Given the description of an element on the screen output the (x, y) to click on. 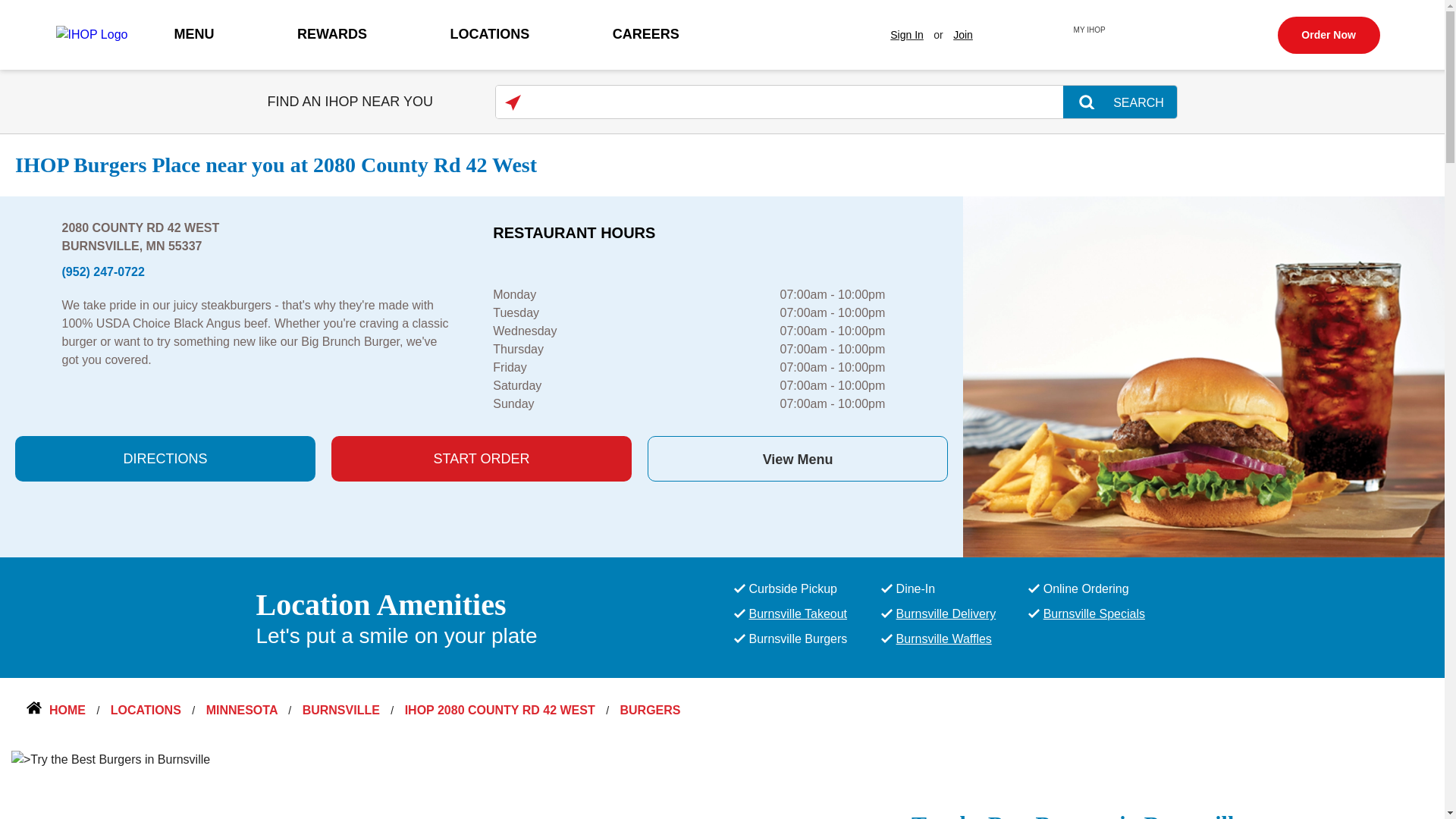
Start Order (481, 458)
DIRECTIONS (164, 458)
Burnsville Delivery (945, 613)
Burnsville Specials (1093, 613)
View Menu (797, 458)
MINNESOTA (243, 709)
Burnsville Delivery (945, 613)
HOME (57, 709)
Find an IHOP Near You (512, 102)
Start Order (797, 458)
Join (962, 34)
Burnsville Waffles (943, 638)
LOCATIONS (489, 33)
Burnsville Takeout (798, 613)
Burnsville Takeout (798, 613)
